Given the description of an element on the screen output the (x, y) to click on. 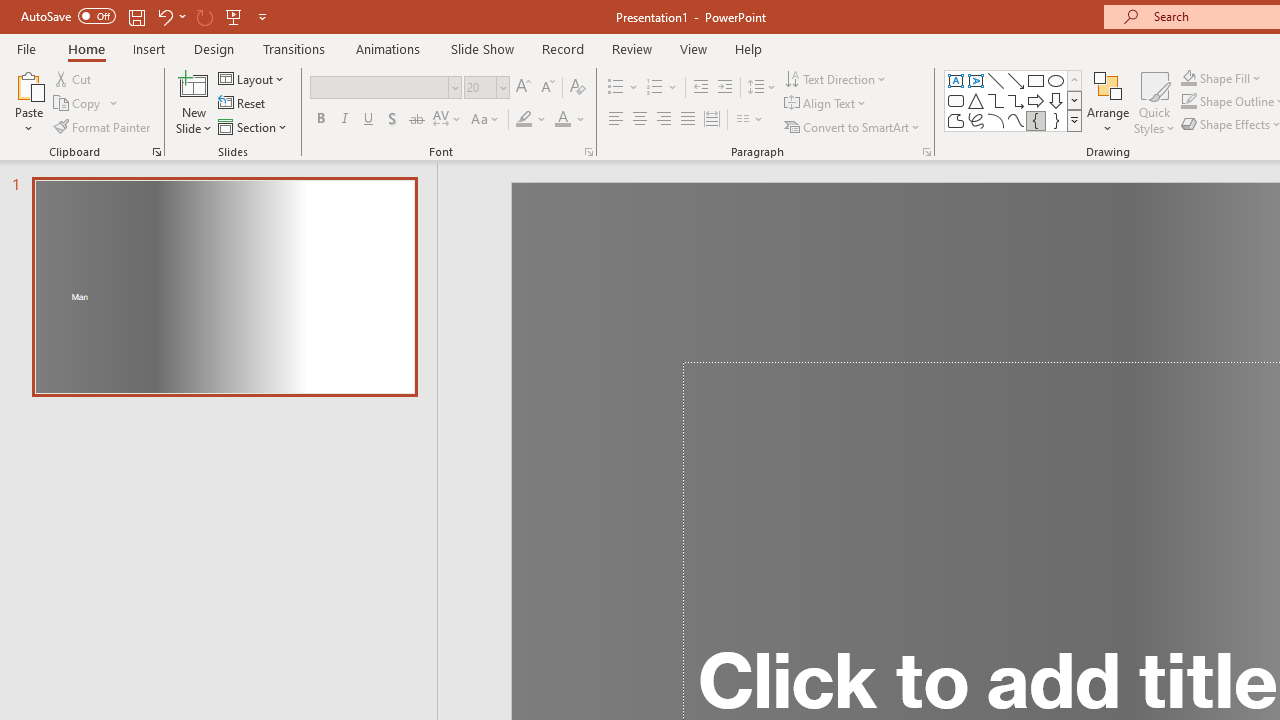
Shapes (1074, 120)
Decrease Font Size (547, 87)
Format Painter (103, 126)
Text Box (955, 80)
Vertical Text Box (975, 80)
Freeform: Shape (955, 120)
Increase Font Size (522, 87)
Isosceles Triangle (975, 100)
